Given the description of an element on the screen output the (x, y) to click on. 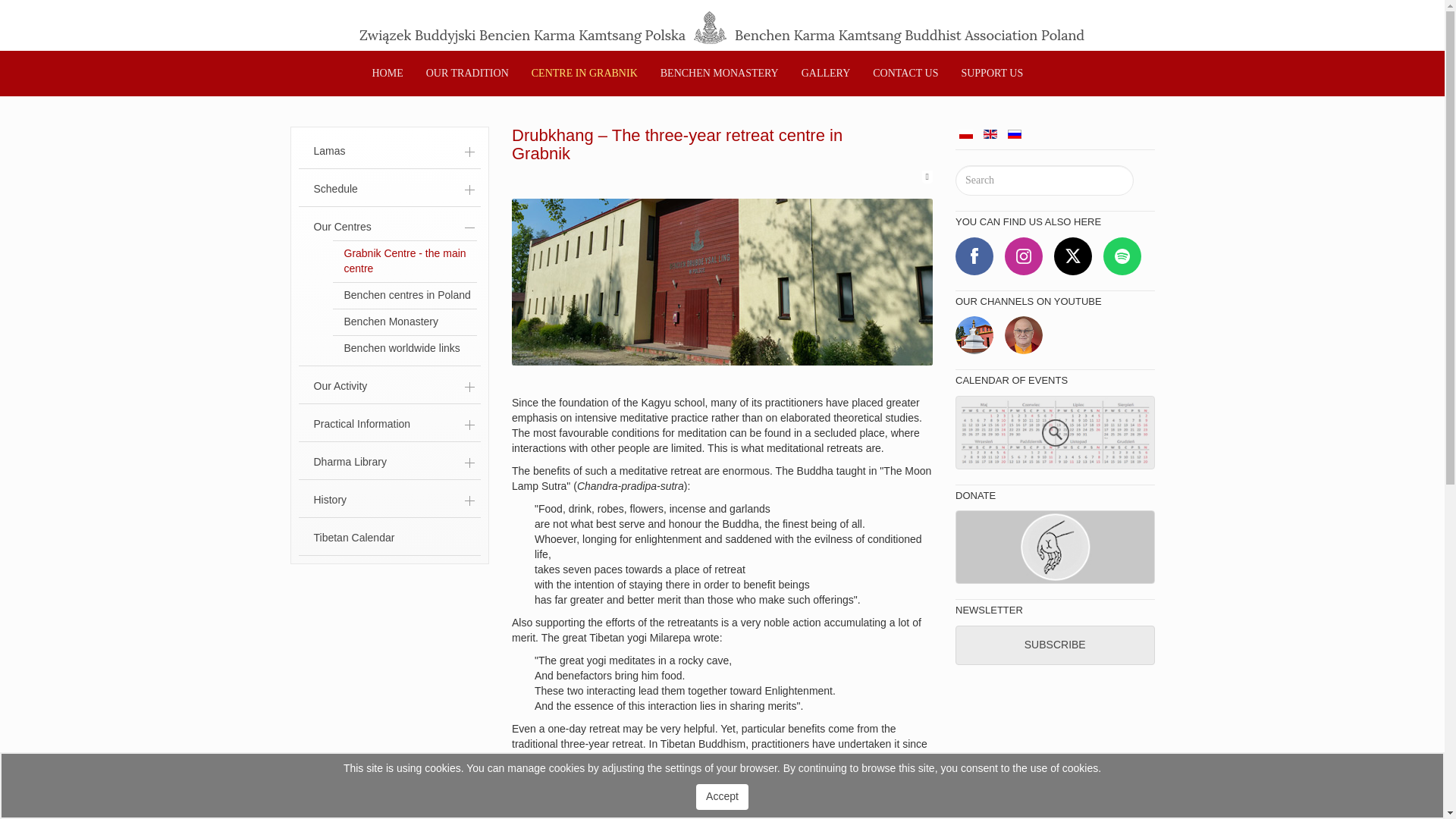
Benchen Monastery (404, 321)
OUR TRADITION (466, 73)
Grabnik Centre - the main centre (404, 260)
Benchen worldwide links (404, 348)
HOME (387, 73)
polski (965, 133)
Our Centres (389, 227)
Schedule (389, 189)
Lamas (389, 151)
GALLERY (825, 73)
